Given the description of an element on the screen output the (x, y) to click on. 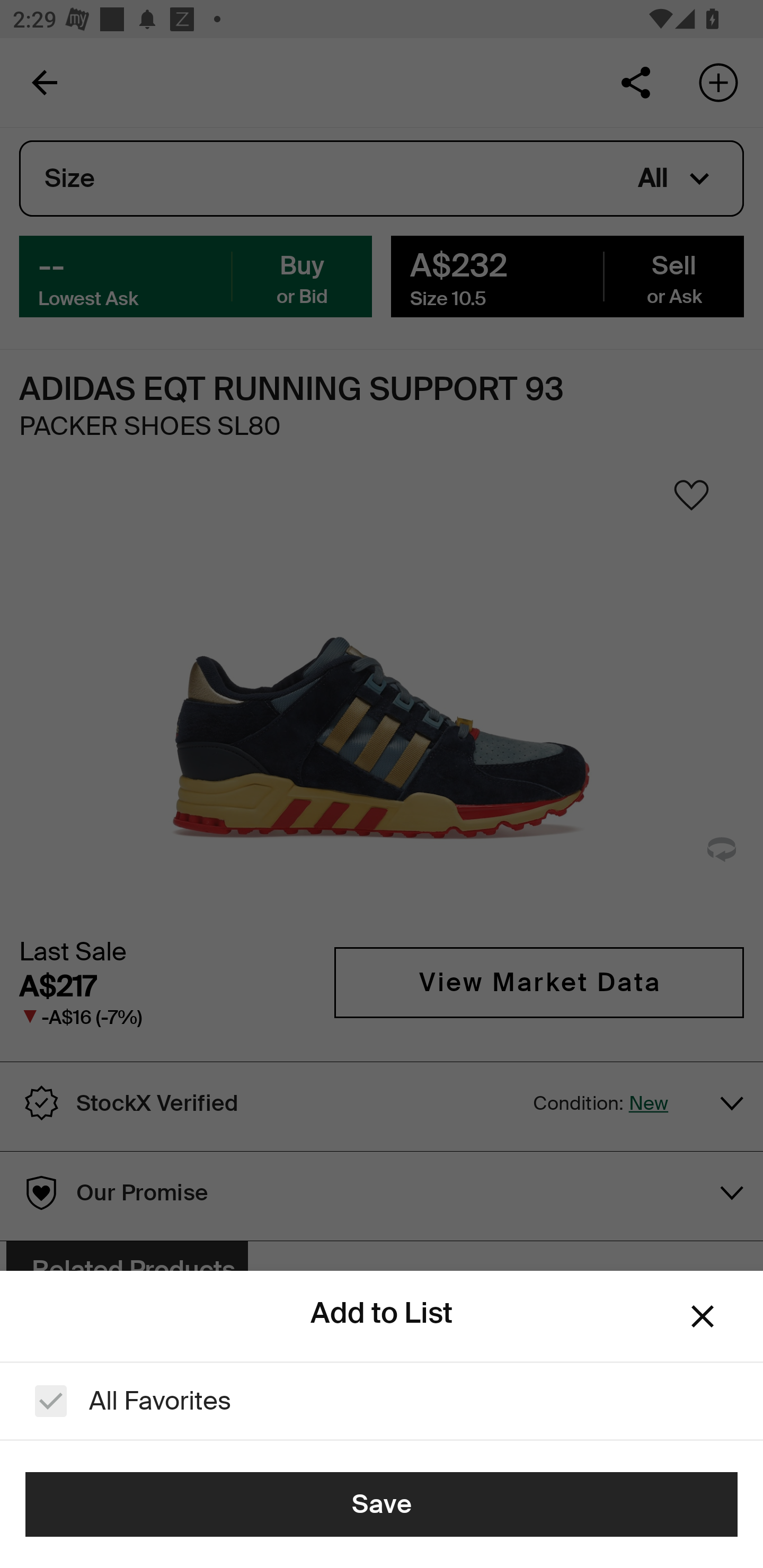
Dismiss (702, 1315)
All Favorites (381, 1400)
Save (381, 1504)
